Given the description of an element on the screen output the (x, y) to click on. 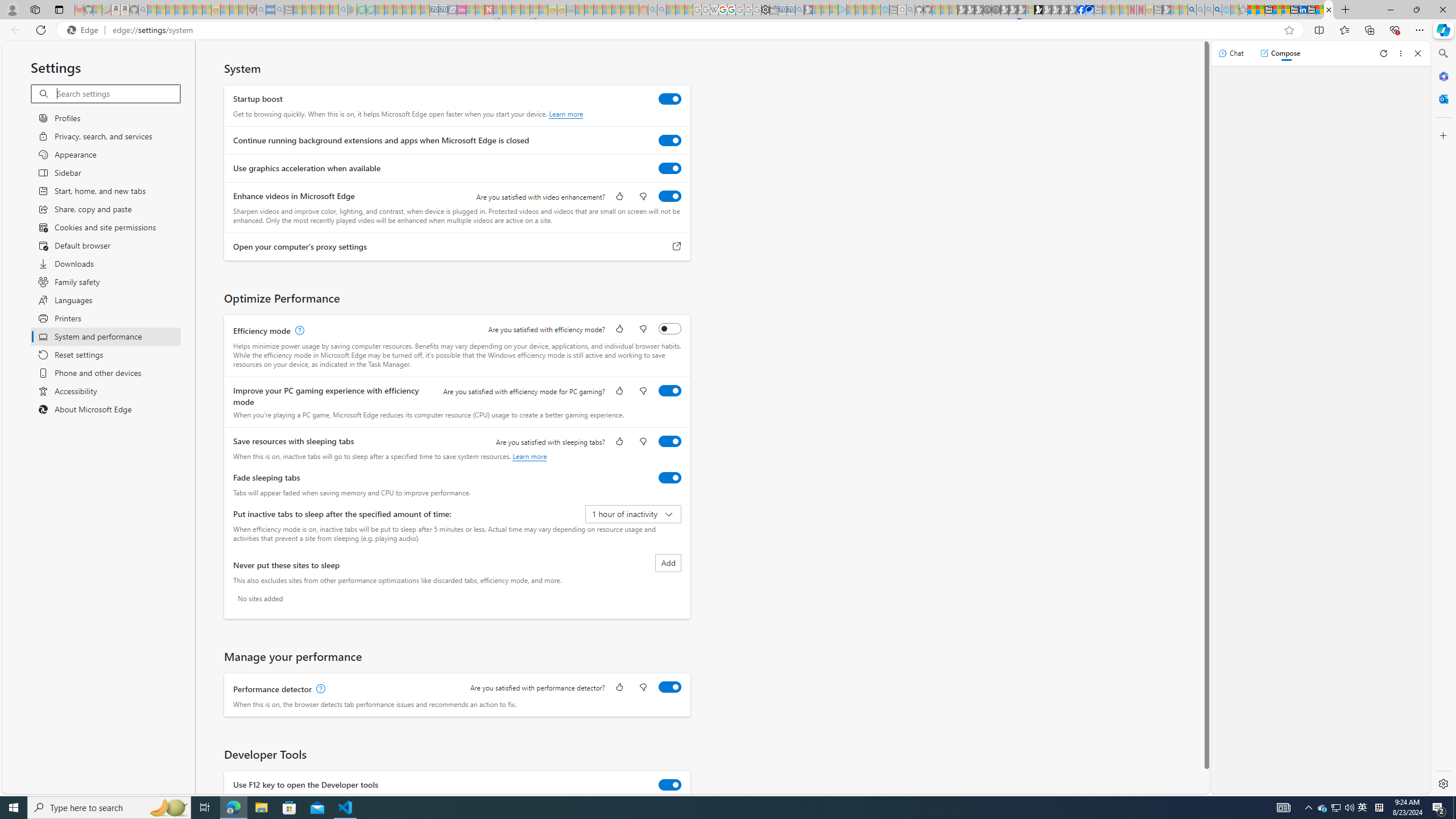
Microsoft Start Gaming - Sleeping (807, 9)
Jobs - lastminute.com Investor Portal - Sleeping (461, 9)
utah sues federal government - Search - Sleeping (279, 9)
MSN - Sleeping (1165, 9)
AQI & Health | AirNow.gov (1089, 9)
Bing Real Estate - Home sales and rental listings - Sleeping (799, 9)
